Given the description of an element on the screen output the (x, y) to click on. 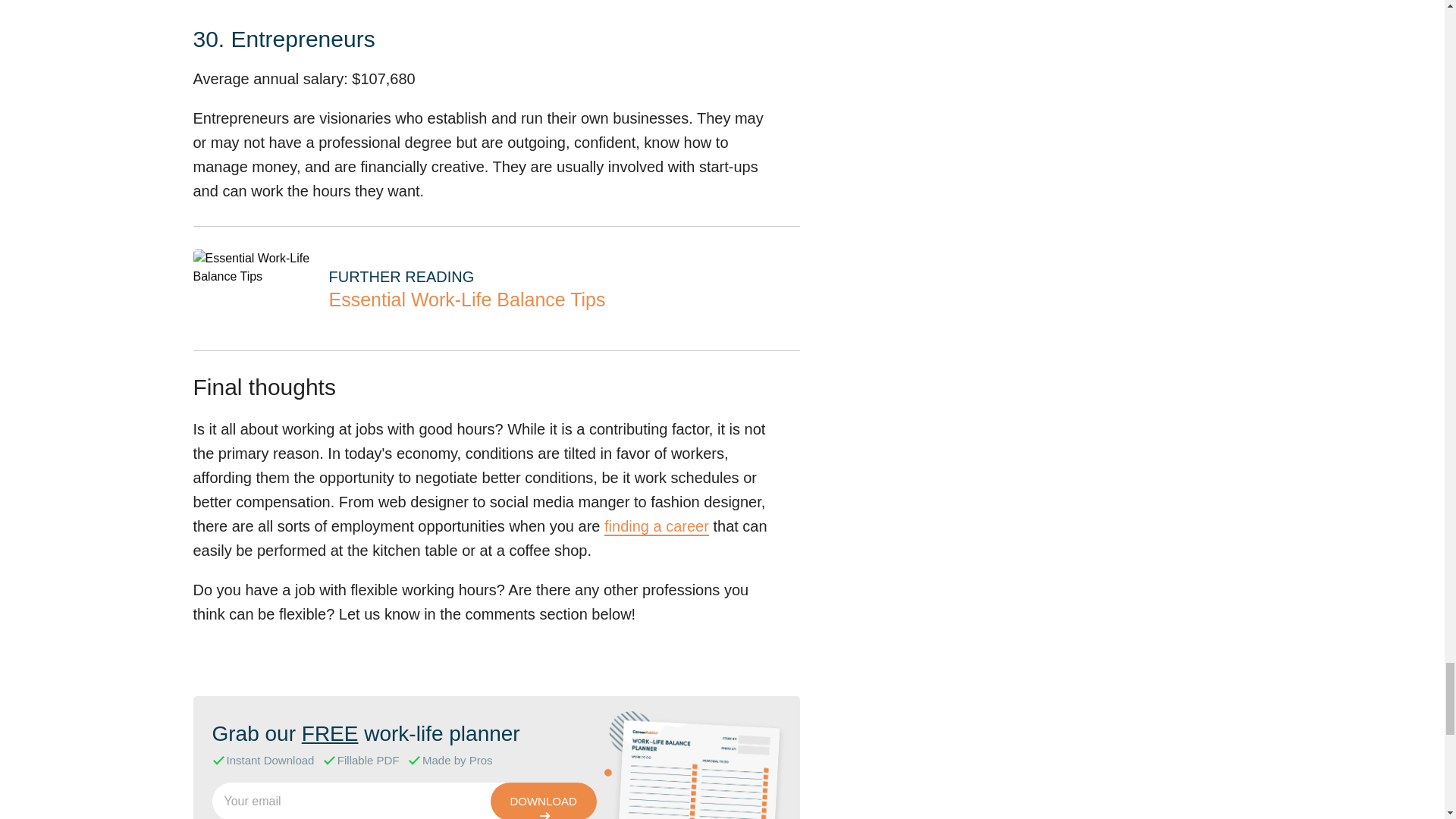
Essential Work-Life Balance Tips (252, 267)
